Given the description of an element on the screen output the (x, y) to click on. 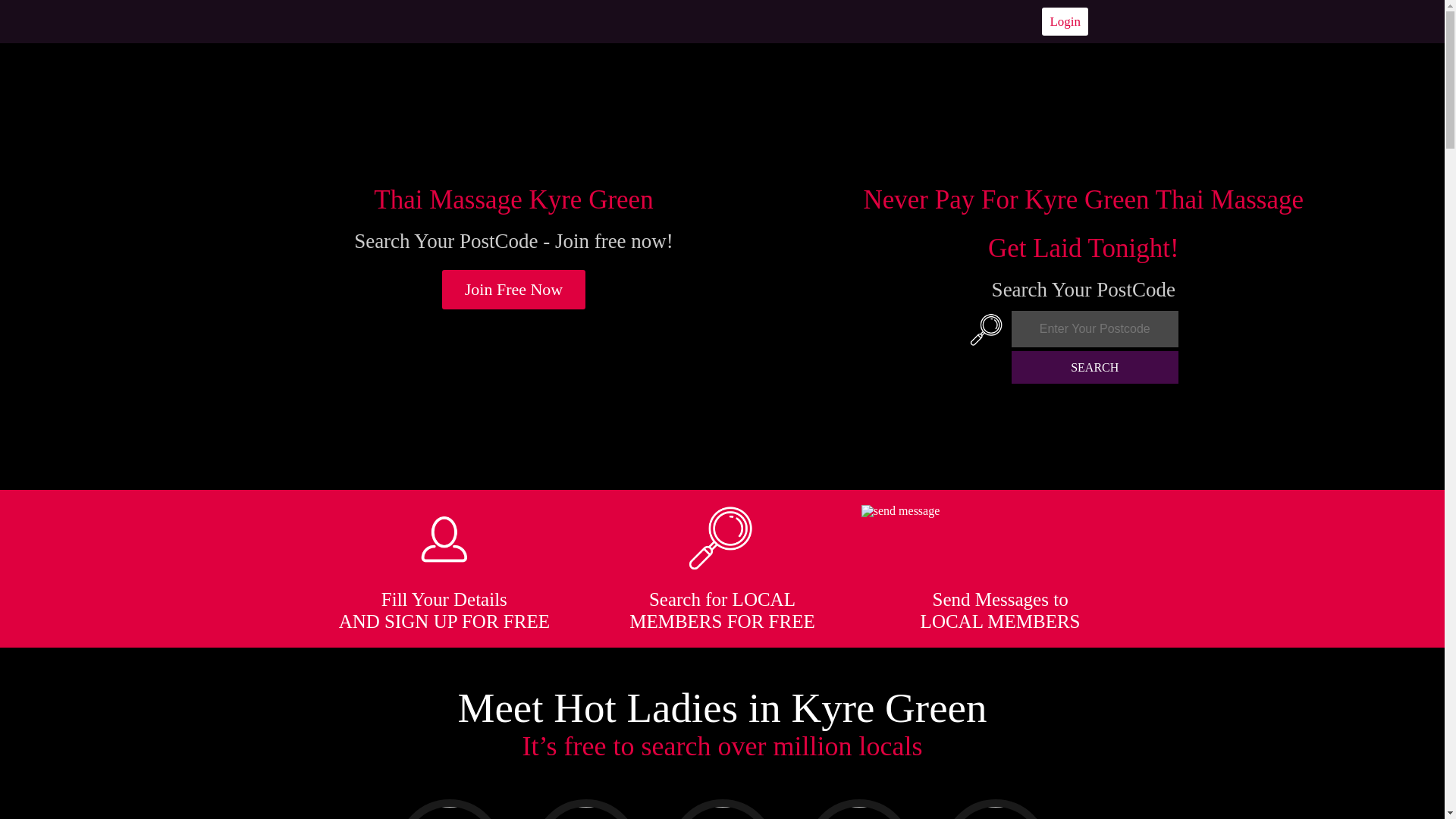
SEARCH (1094, 367)
Join Free Now (514, 289)
Join (514, 289)
Login (1064, 21)
Login (1064, 21)
